Given the description of an element on the screen output the (x, y) to click on. 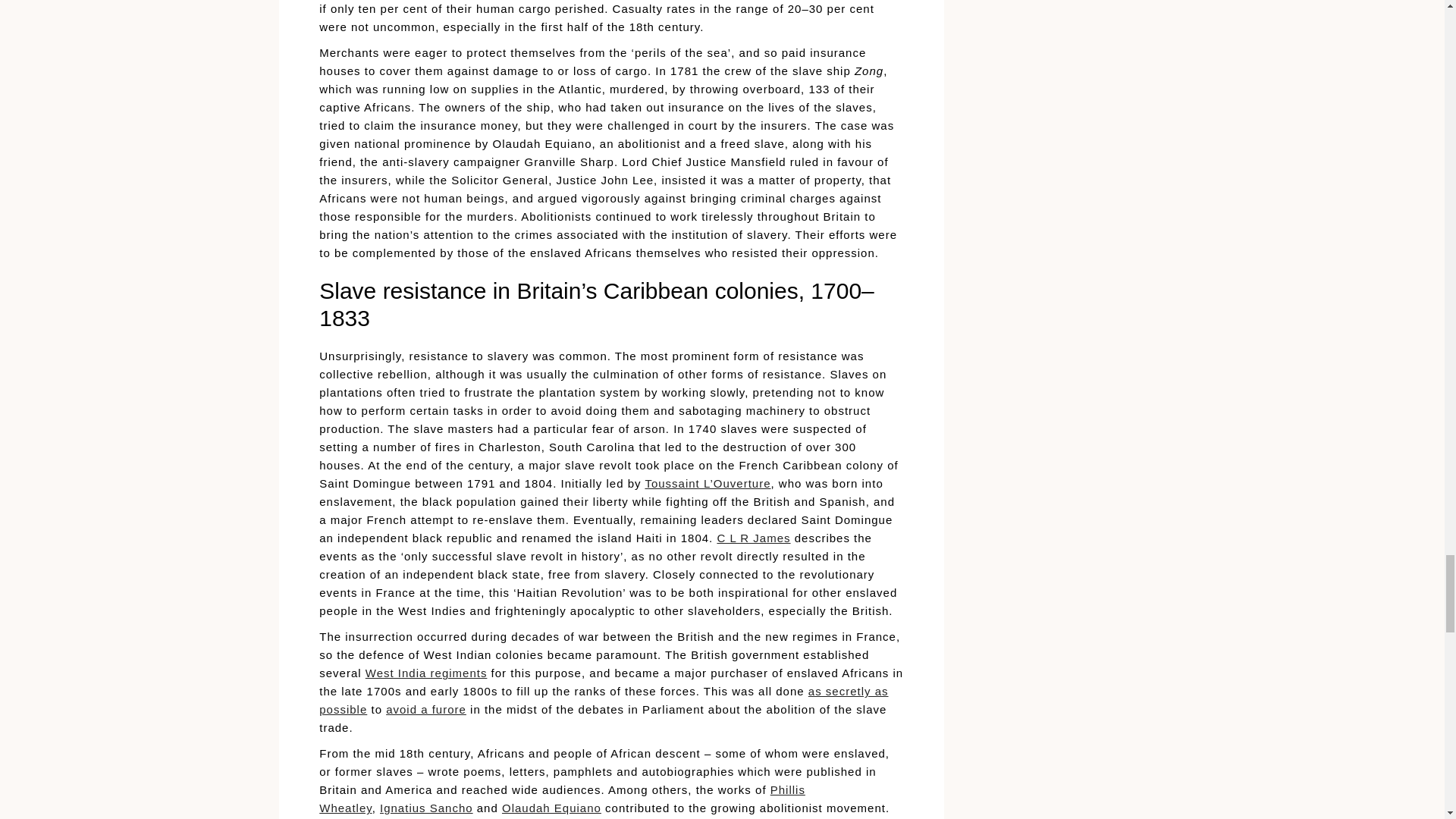
as secretly as possible (603, 699)
C L R James (753, 537)
Phillis Wheatley (561, 798)
West India regiments (426, 672)
avoid a furore (425, 708)
Olaudah Equiano (551, 807)
Ignatius Sancho (426, 807)
